Given the description of an element on the screen output the (x, y) to click on. 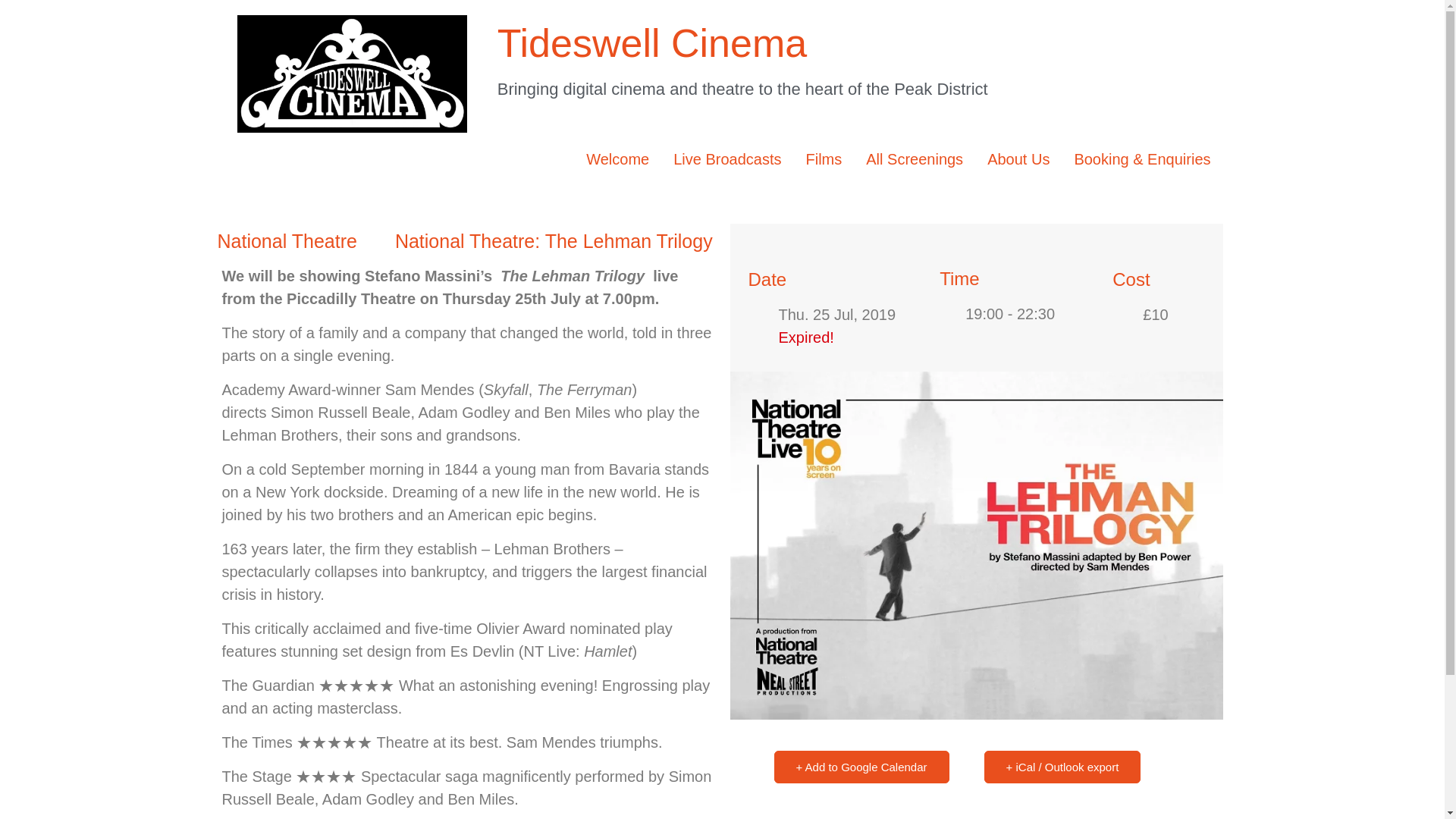
Live Broadcasts (727, 159)
Tideswell Cinema (651, 43)
Welcome (617, 159)
Films (823, 159)
About Us (1018, 159)
All Screenings (914, 159)
